Given the description of an element on the screen output the (x, y) to click on. 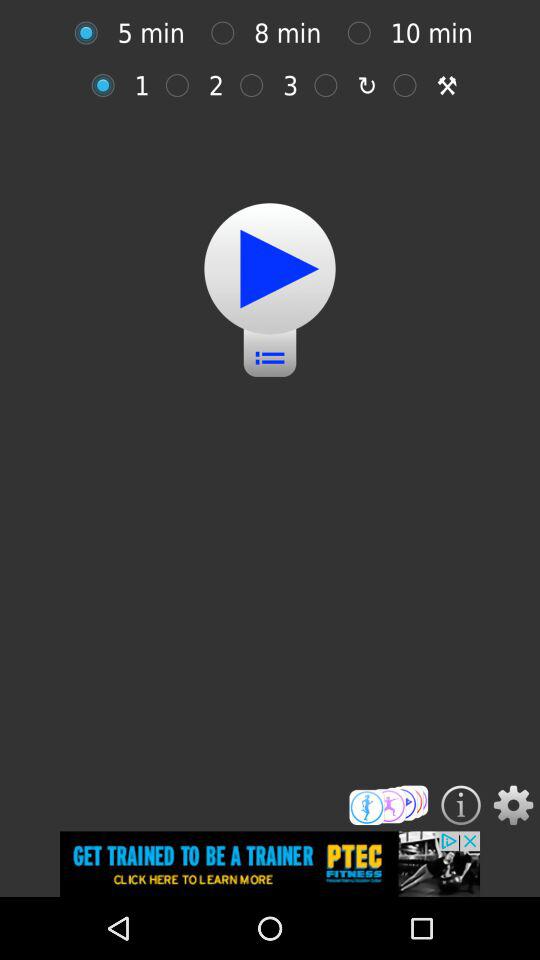
select option button (227, 32)
